Given the description of an element on the screen output the (x, y) to click on. 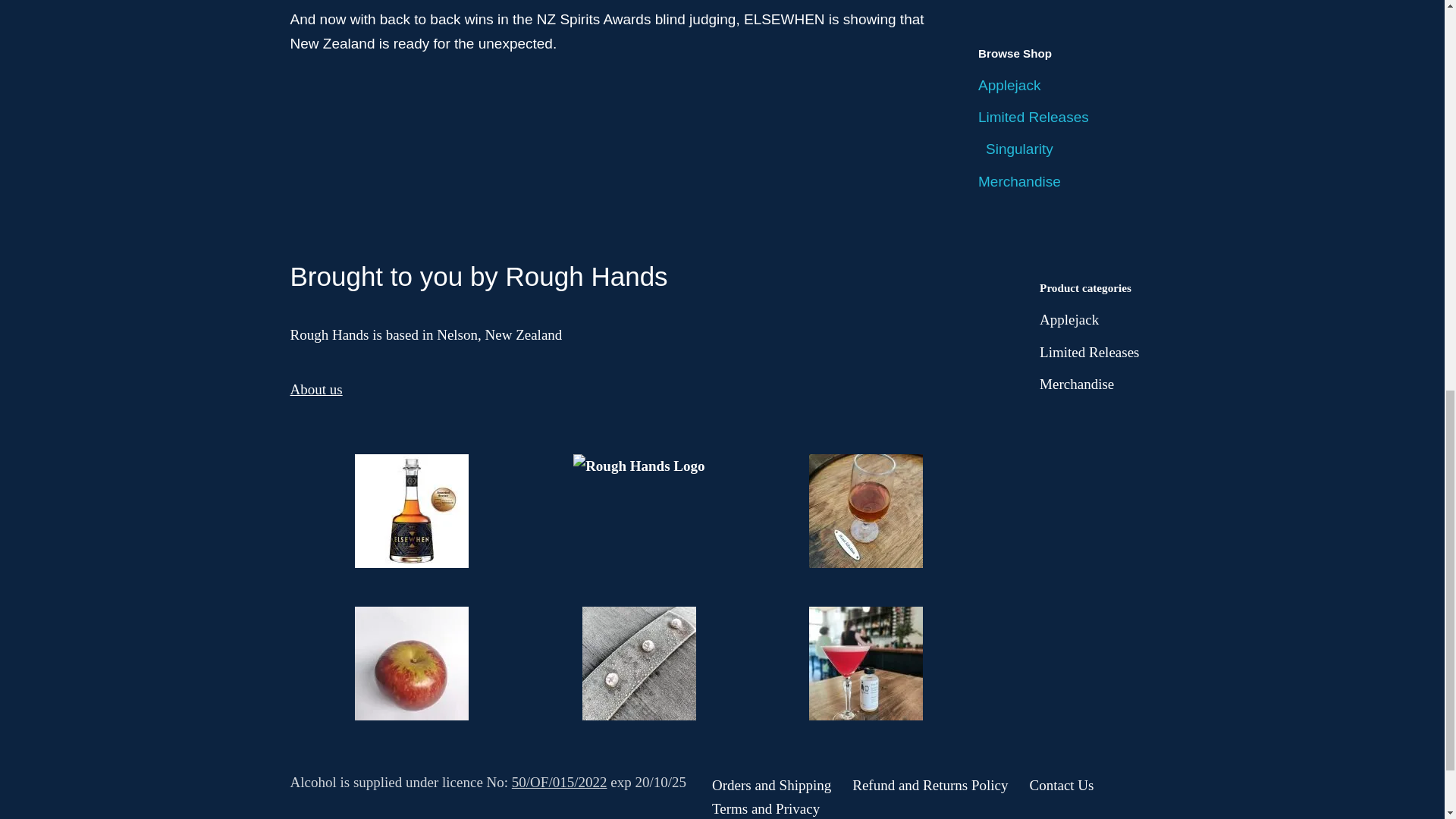
Limited Releases (1033, 116)
About us (315, 389)
Limited Releases (1088, 351)
Merchandise (1076, 383)
Applejack (1009, 84)
Singularity (1018, 148)
Merchandise (1019, 181)
Applejack (1069, 319)
